Given the description of an element on the screen output the (x, y) to click on. 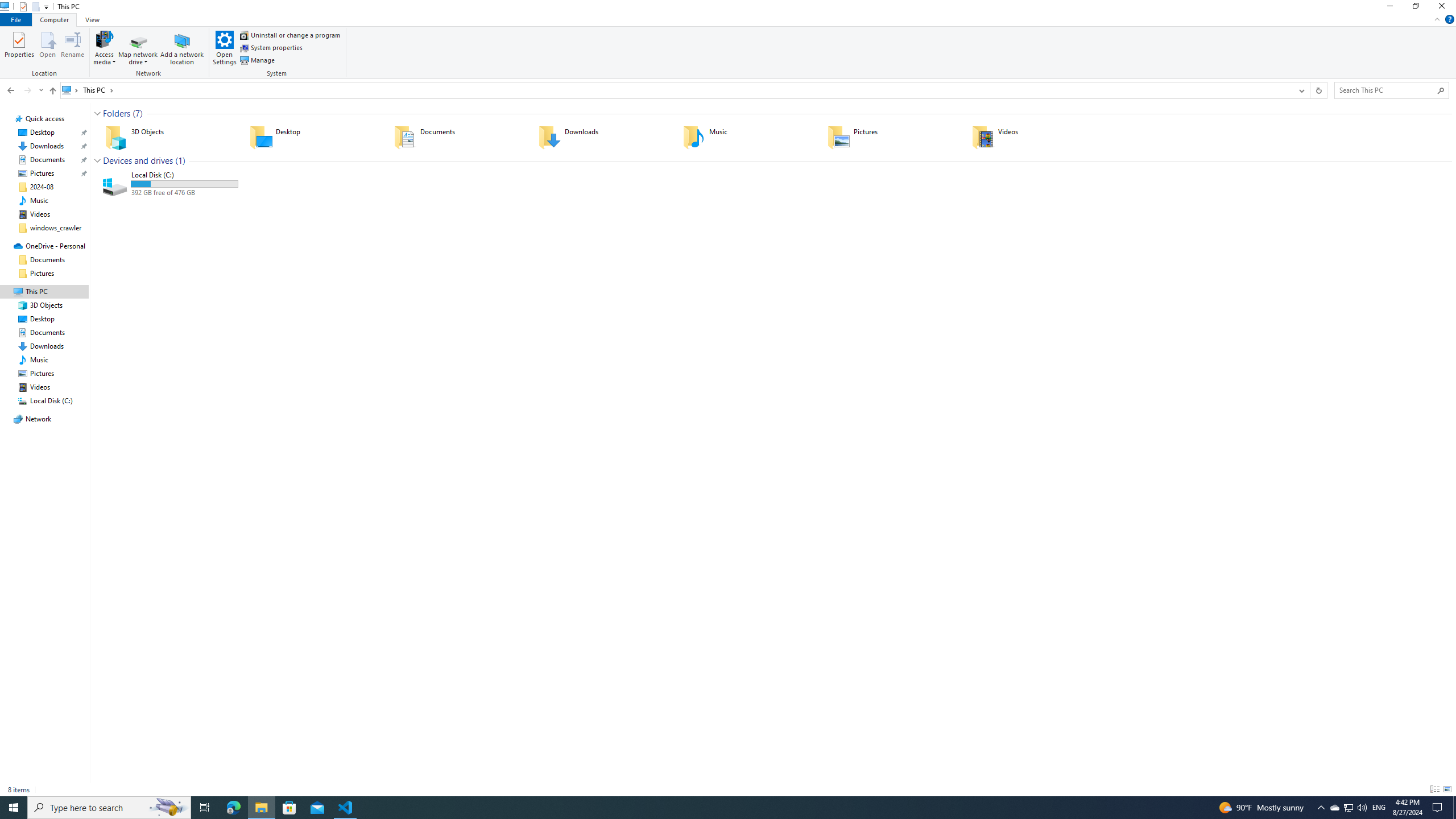
Music (747, 136)
System properties (271, 47)
Previous Locations (1301, 90)
Open Settings (224, 47)
Desktop (pinned) (42, 132)
Access media (103, 47)
System (278, 52)
